Given the description of an element on the screen output the (x, y) to click on. 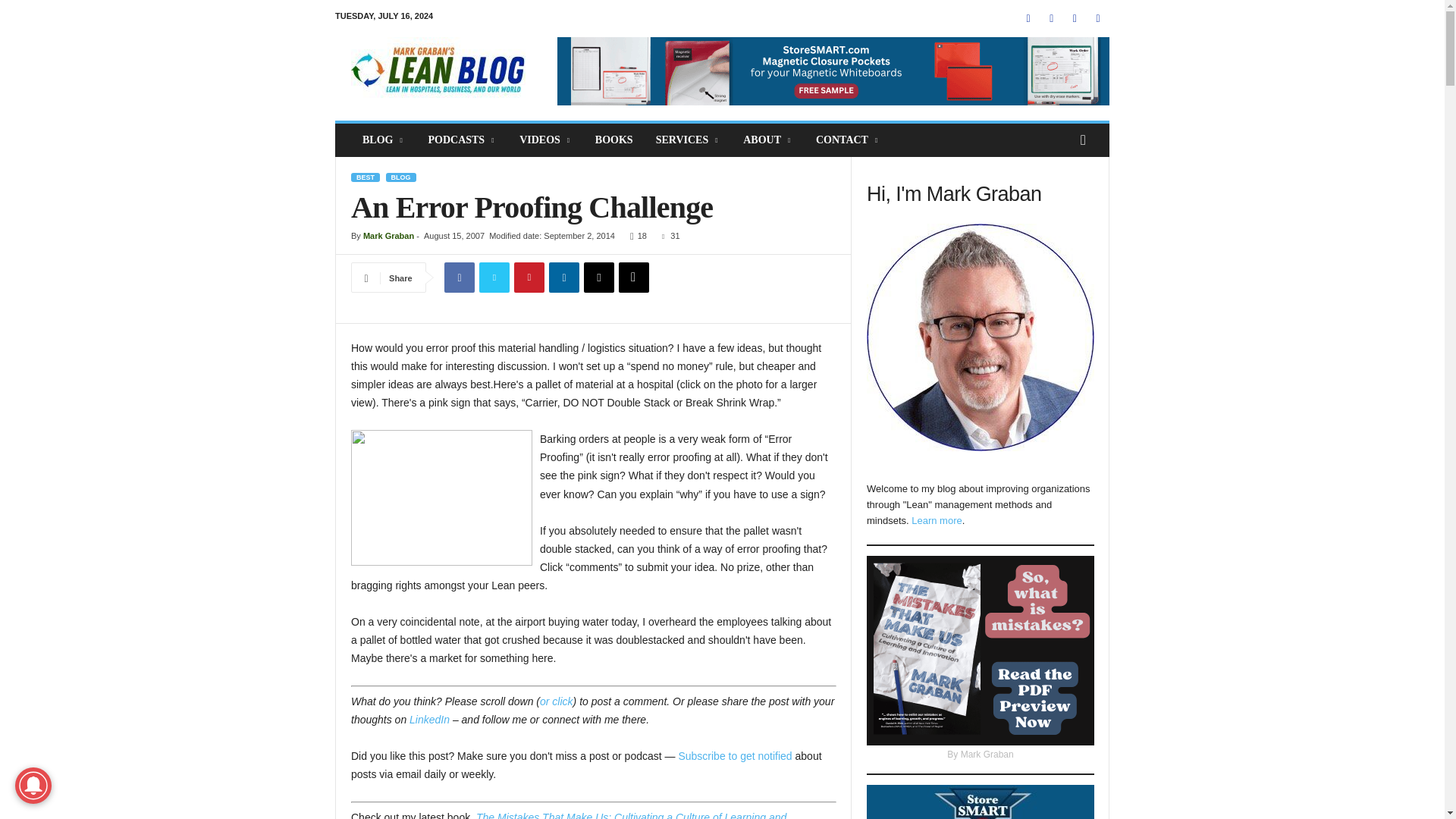
Linkedin (563, 277)
Facebook (459, 277)
Home (437, 70)
Copy URL (633, 277)
Pinterest (528, 277)
Email (598, 277)
Twitter (494, 277)
